Given the description of an element on the screen output the (x, y) to click on. 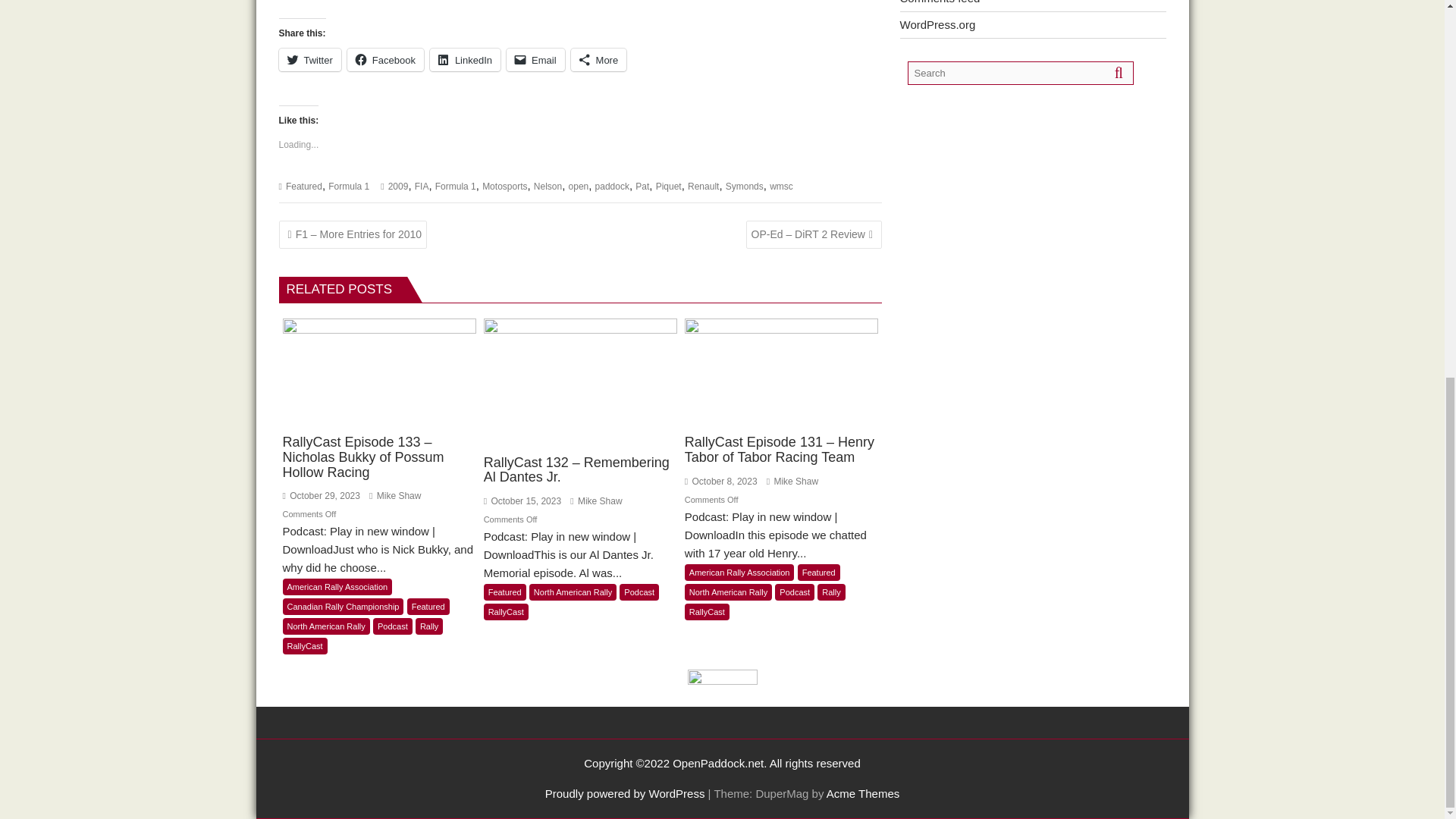
Formula 1 (455, 185)
paddock (611, 185)
Click to share on Twitter (309, 59)
Click to share on LinkedIn (464, 59)
Facebook (385, 59)
Motosports (504, 185)
Mike Shaw (394, 495)
Email (535, 59)
Nelson (548, 185)
Mike Shaw (595, 501)
Formula 1 (349, 185)
open (579, 185)
LinkedIn (464, 59)
Piquet (668, 185)
Pat (641, 185)
